Given the description of an element on the screen output the (x, y) to click on. 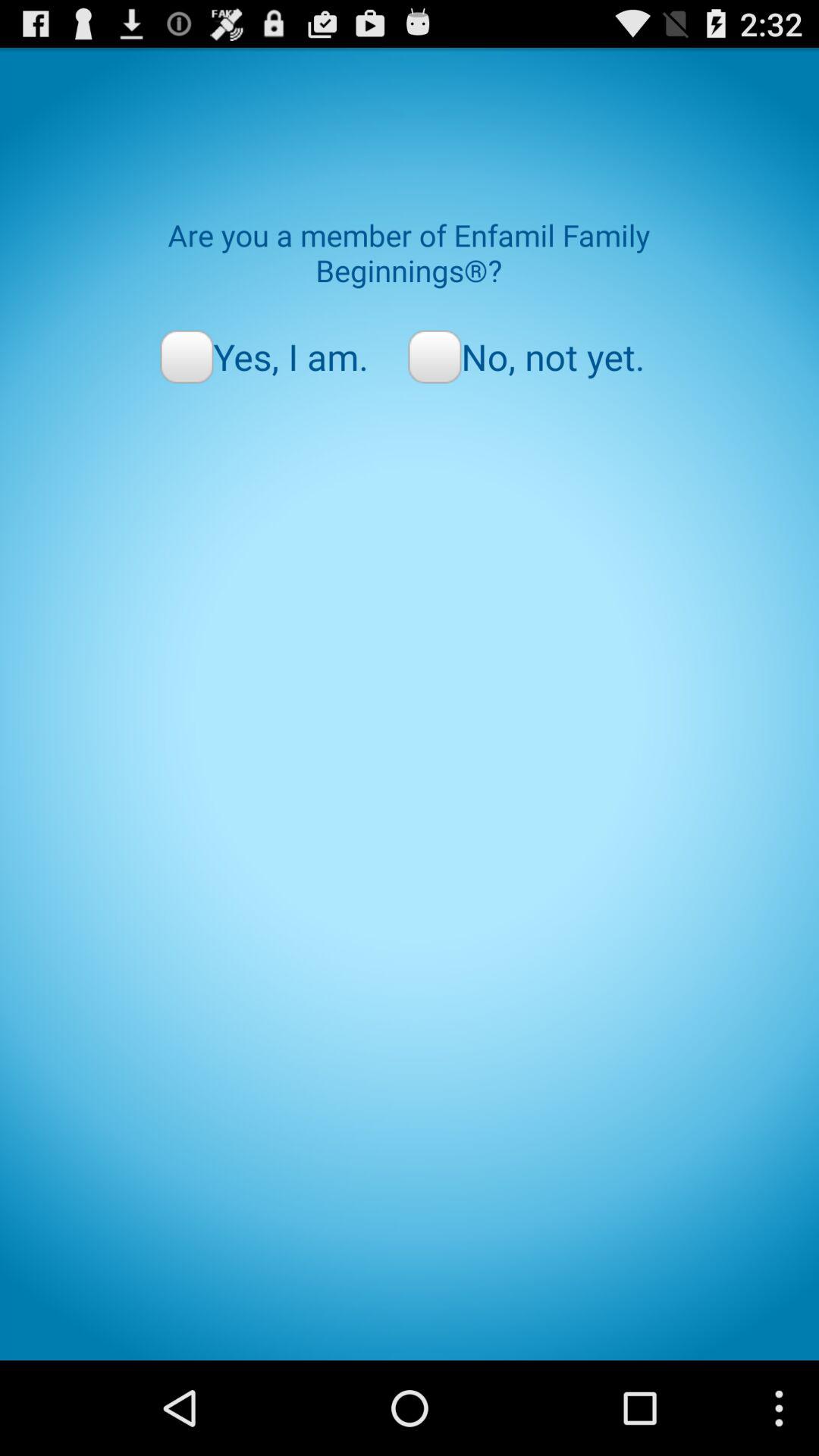
turn off the icon at the top left corner (264, 356)
